Given the description of an element on the screen output the (x, y) to click on. 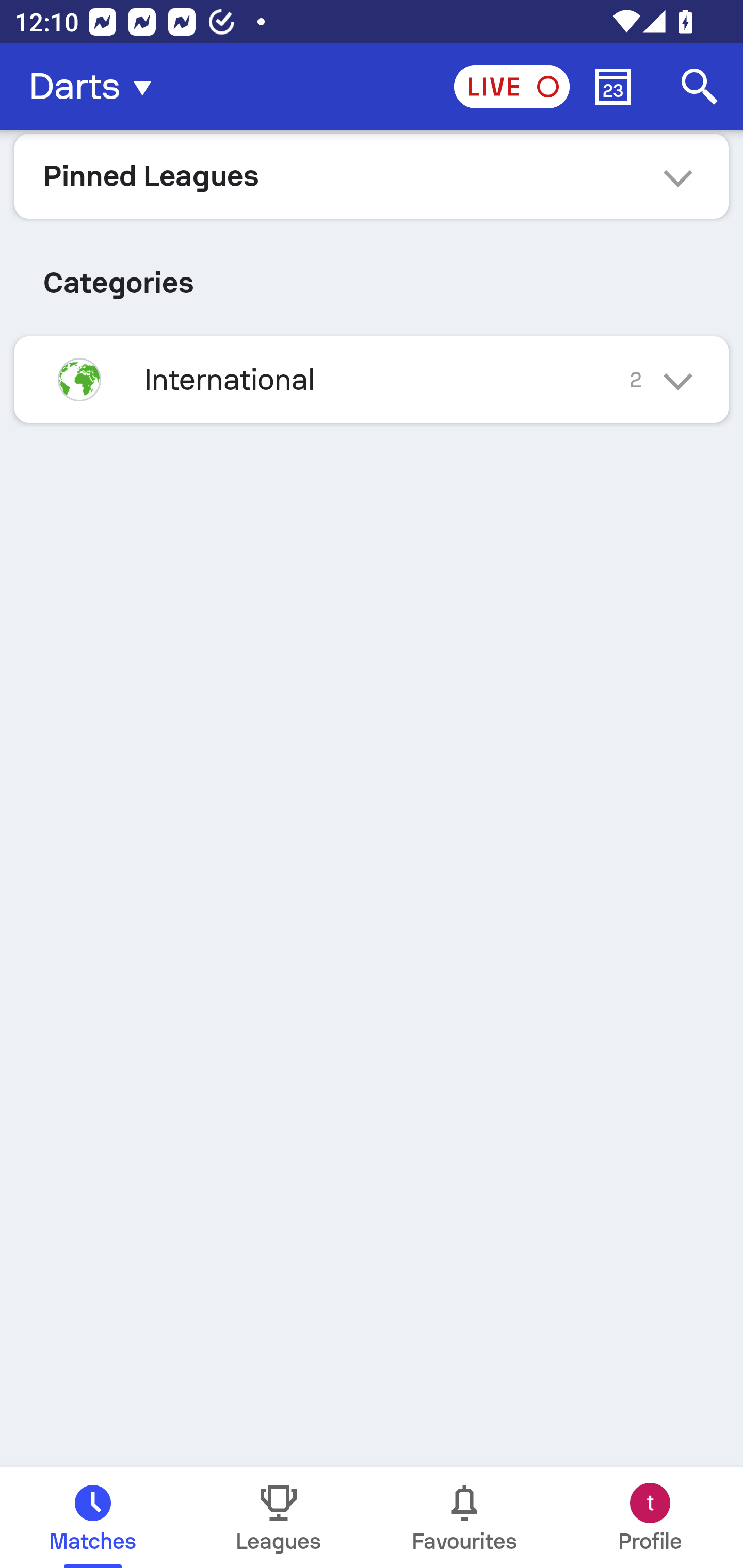
Darts (96, 86)
Calendar (612, 86)
Search (699, 86)
Pinned Leagues (371, 175)
Categories (371, 275)
International 2 (371, 379)
Leagues (278, 1517)
Favourites (464, 1517)
Profile (650, 1517)
